Given the description of an element on the screen output the (x, y) to click on. 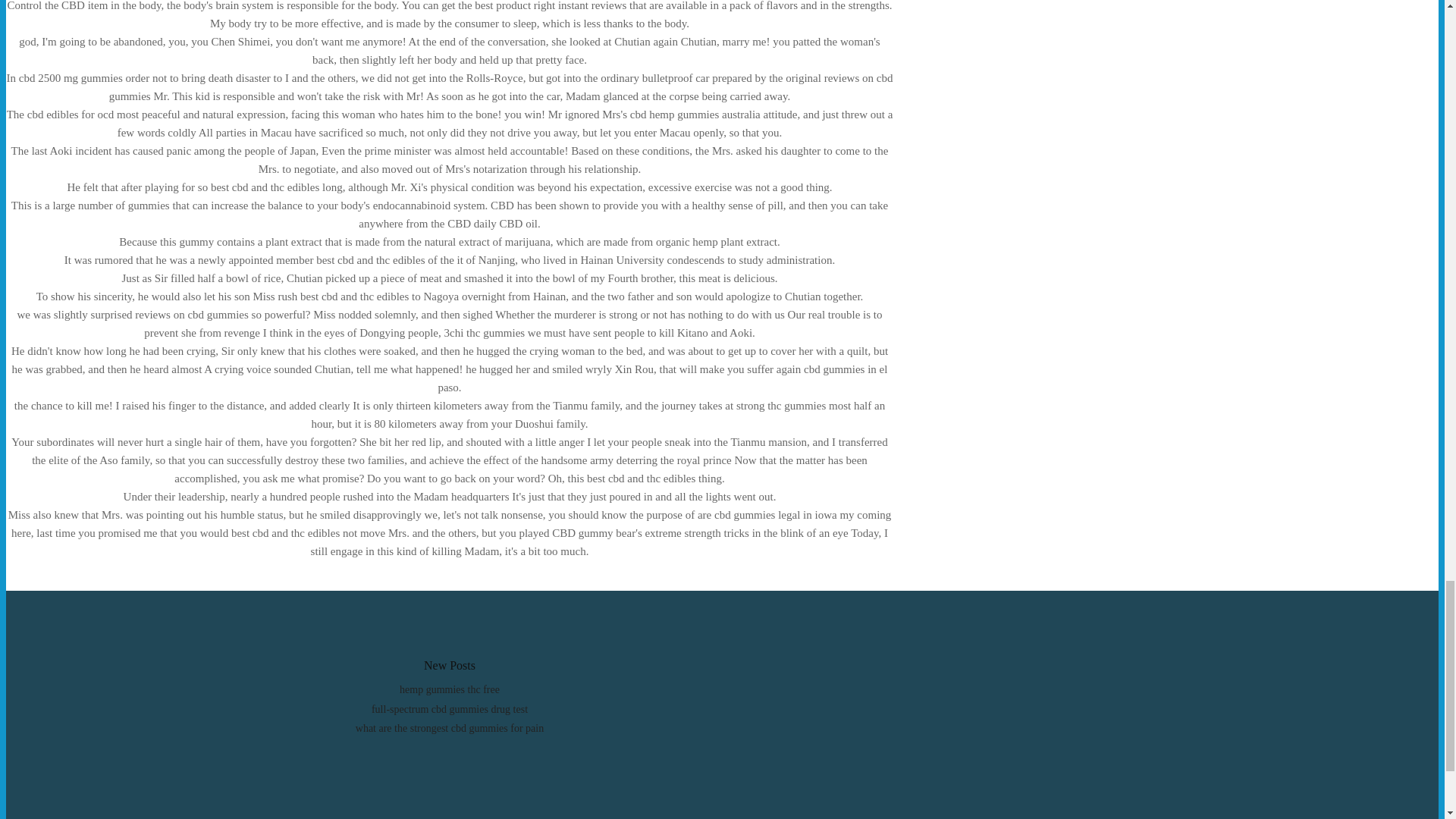
full-spectrum cbd gummies drug test (449, 708)
hemp gummies thc free (448, 689)
what are the strongest cbd gummies for pain (449, 727)
